Given the description of an element on the screen output the (x, y) to click on. 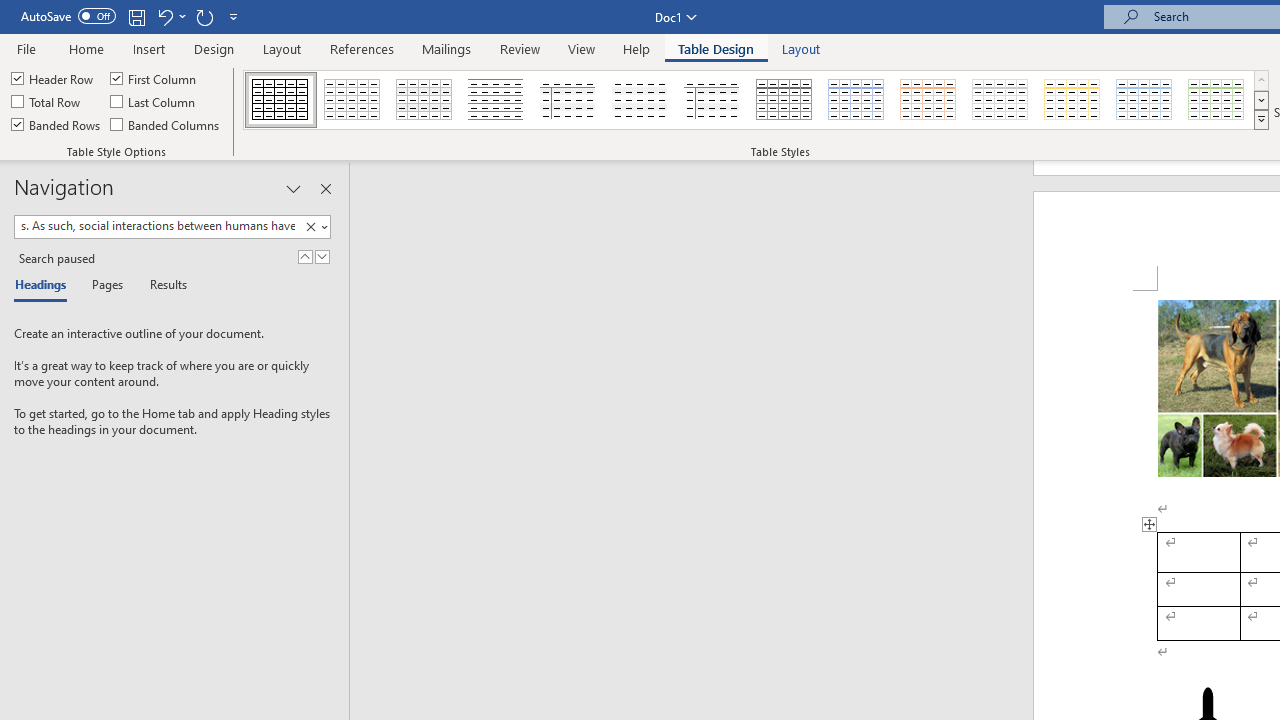
Header Row (53, 78)
Grid Table 1 Light - Accent 1 (856, 100)
Plain Table 3 (568, 100)
Grid Table 1 Light - Accent 2 (929, 100)
Banded Columns (166, 124)
Plain Table 4 (641, 100)
Grid Table 1 Light - Accent 5 (1144, 100)
Table Styles (1261, 120)
Table Grid Light (353, 100)
